Given the description of an element on the screen output the (x, y) to click on. 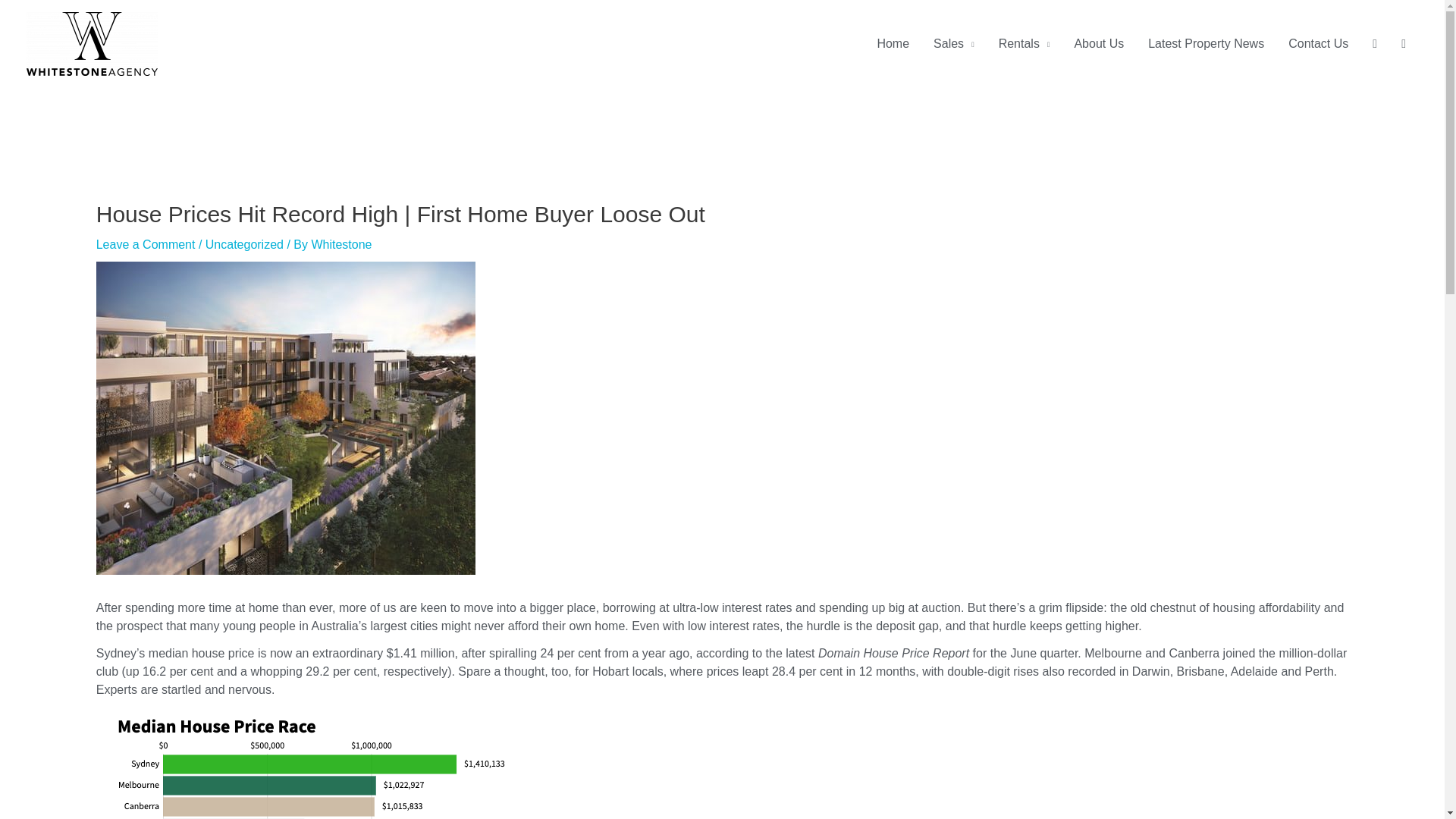
View all posts by Whitestone (341, 244)
Sales (954, 43)
Latest Property News (1205, 43)
Home (892, 43)
Rentals (1024, 43)
About Us (1098, 43)
Contact Us (1317, 43)
Uncategorized (244, 244)
Leave a Comment (145, 244)
Whitestone (341, 244)
